Given the description of an element on the screen output the (x, y) to click on. 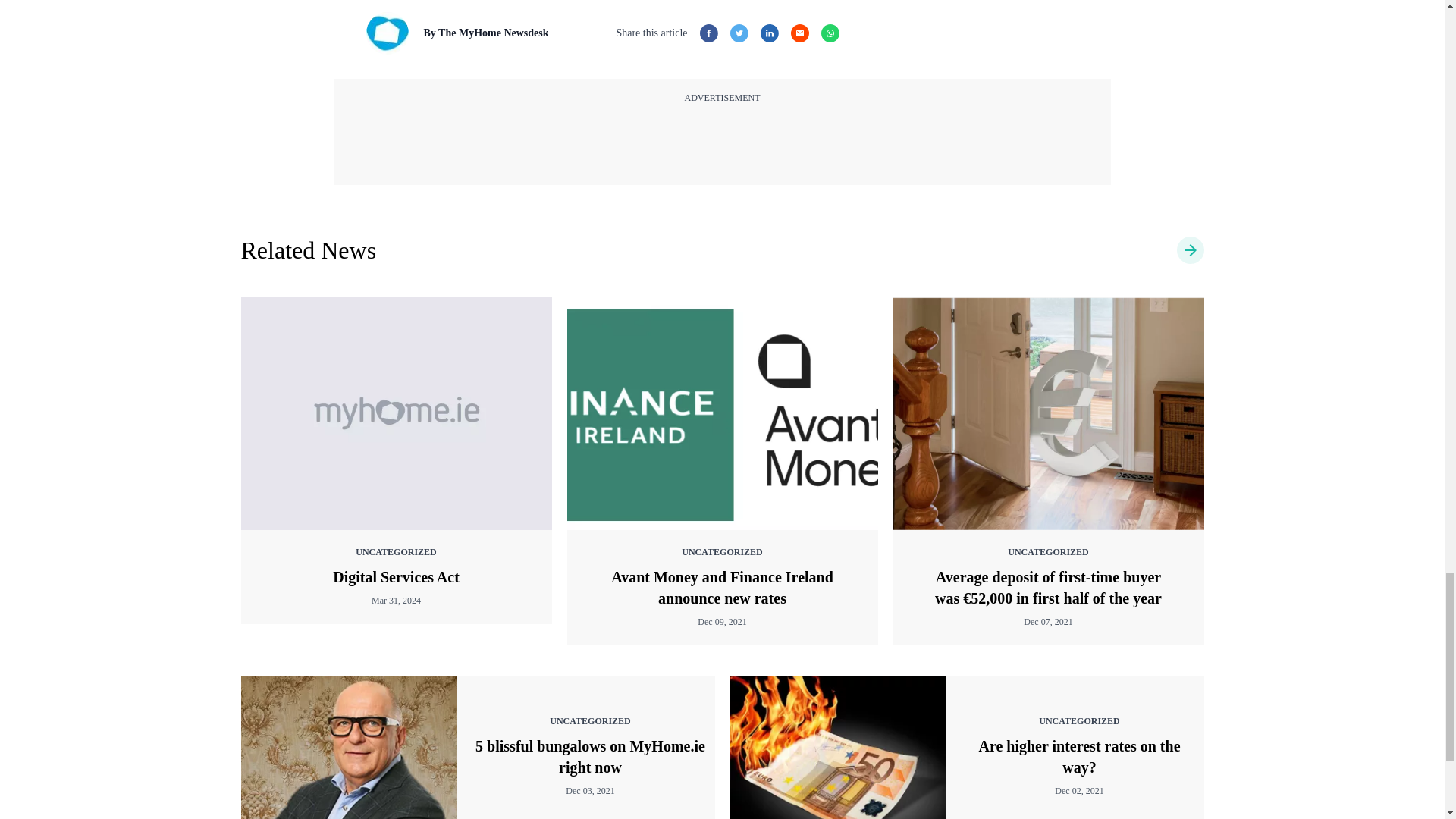
Avant Money and Finance Ireland announce new rates (722, 413)
Avant Money and Finance Ireland announce new rates (721, 587)
Uncategorized (309, 249)
Uncategorized (1190, 249)
